Given the description of an element on the screen output the (x, y) to click on. 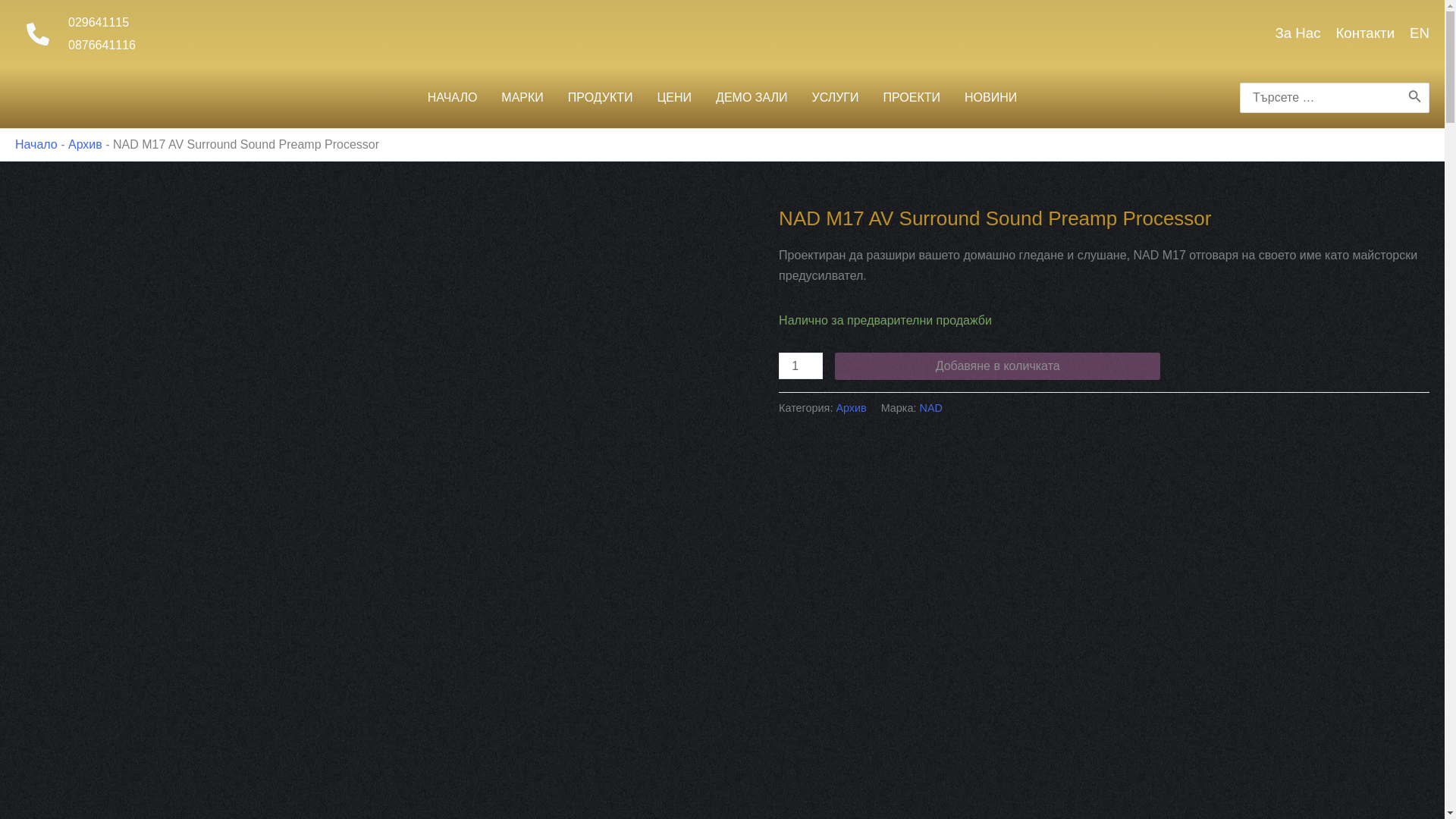
029641115 (98, 21)
0876641116 (101, 43)
1 (800, 365)
NAD (930, 408)
EN (1419, 32)
